Given the description of an element on the screen output the (x, y) to click on. 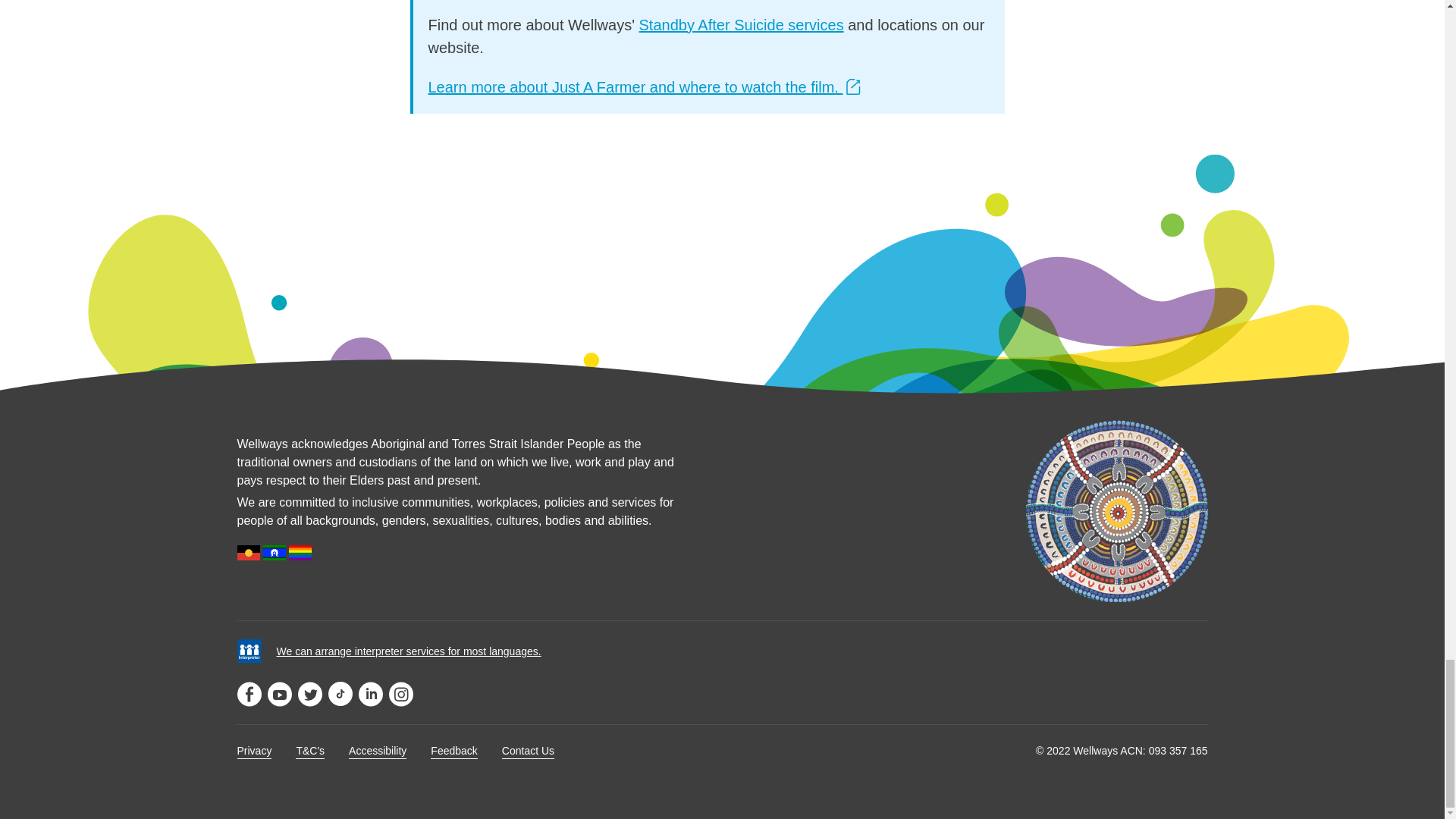
Pride Flag (299, 552)
Flag of the Torres Strait Islanders (274, 552)
Flag of the Australian Aborigines (247, 552)
